Given the description of an element on the screen output the (x, y) to click on. 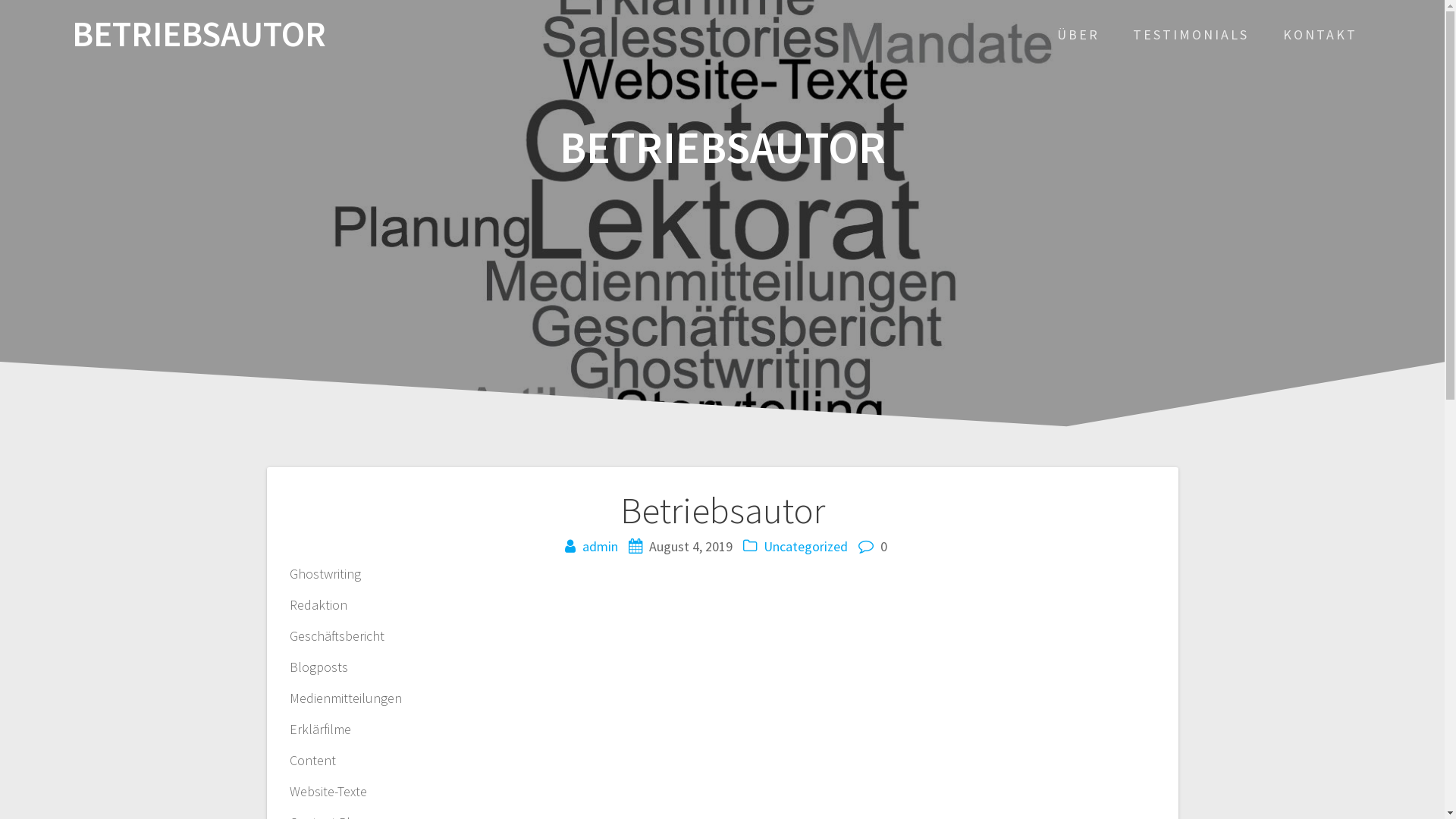
admin Element type: text (600, 546)
KONTAKT Element type: text (1320, 34)
BETRIEBSAUTOR Element type: text (199, 34)
TESTIMONIALS Element type: text (1190, 34)
Uncategorized Element type: text (805, 546)
